Given the description of an element on the screen output the (x, y) to click on. 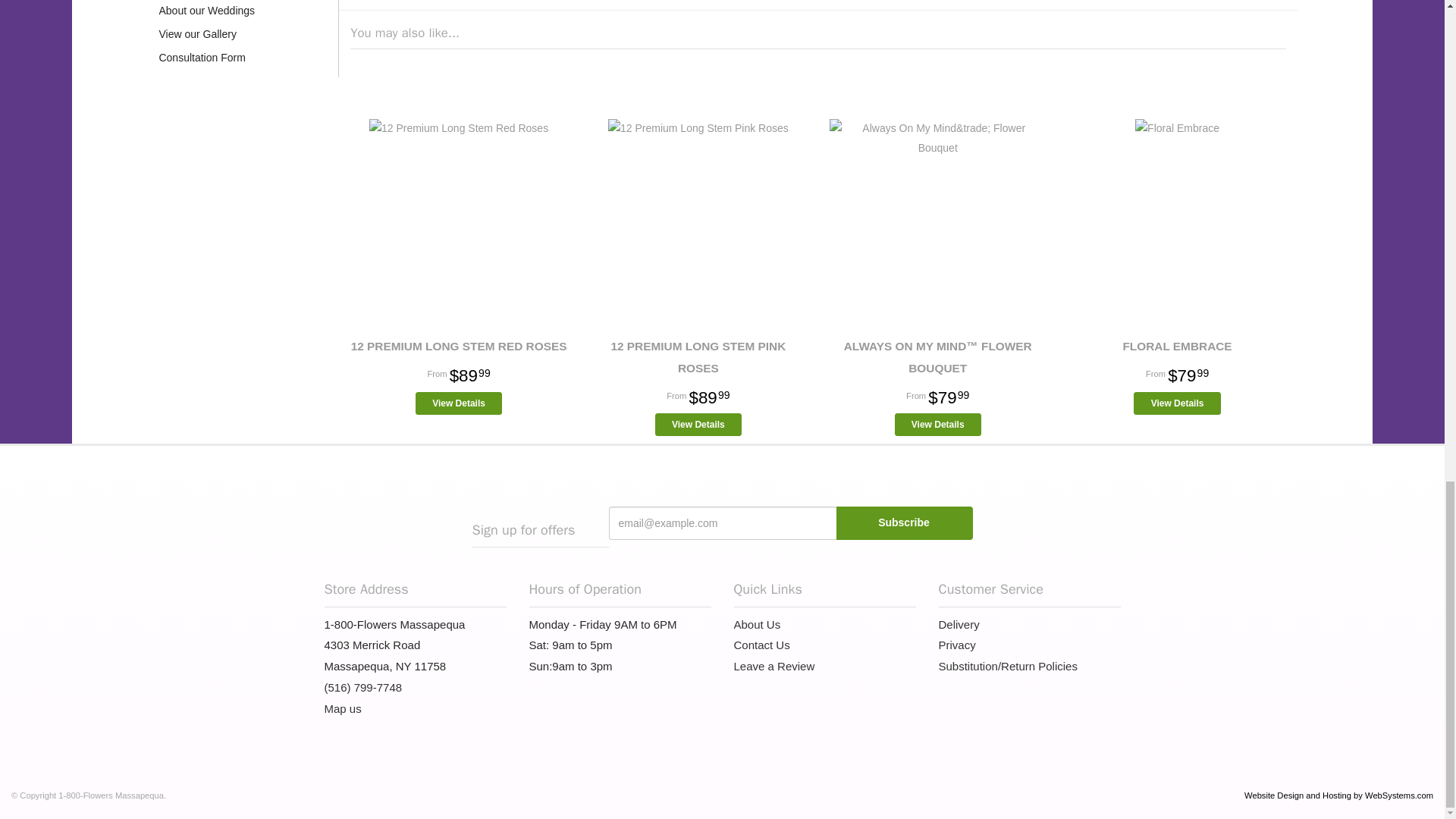
Subscribe (903, 522)
